Given the description of an element on the screen output the (x, y) to click on. 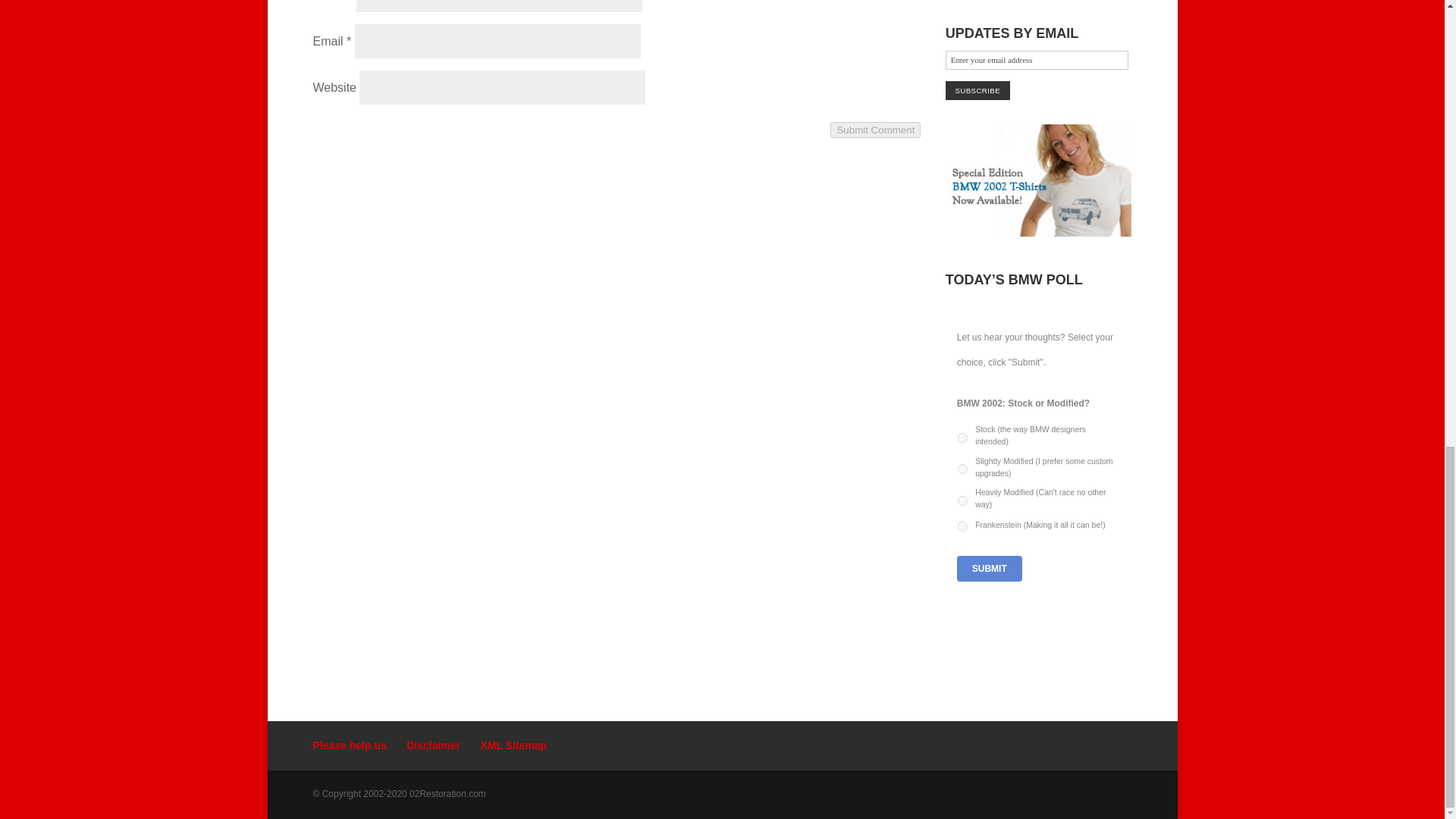
Submit (989, 568)
gpoll185208a74 (963, 501)
gpoll13ed0d367 (963, 469)
BMW 2002 t-shirts, mugs, bags, and more (1038, 232)
gpoll1d509e6a7 (963, 438)
Enter your email address (1036, 59)
gpoll1e8dd0f8e (963, 526)
Subscribe (977, 90)
